Given the description of an element on the screen output the (x, y) to click on. 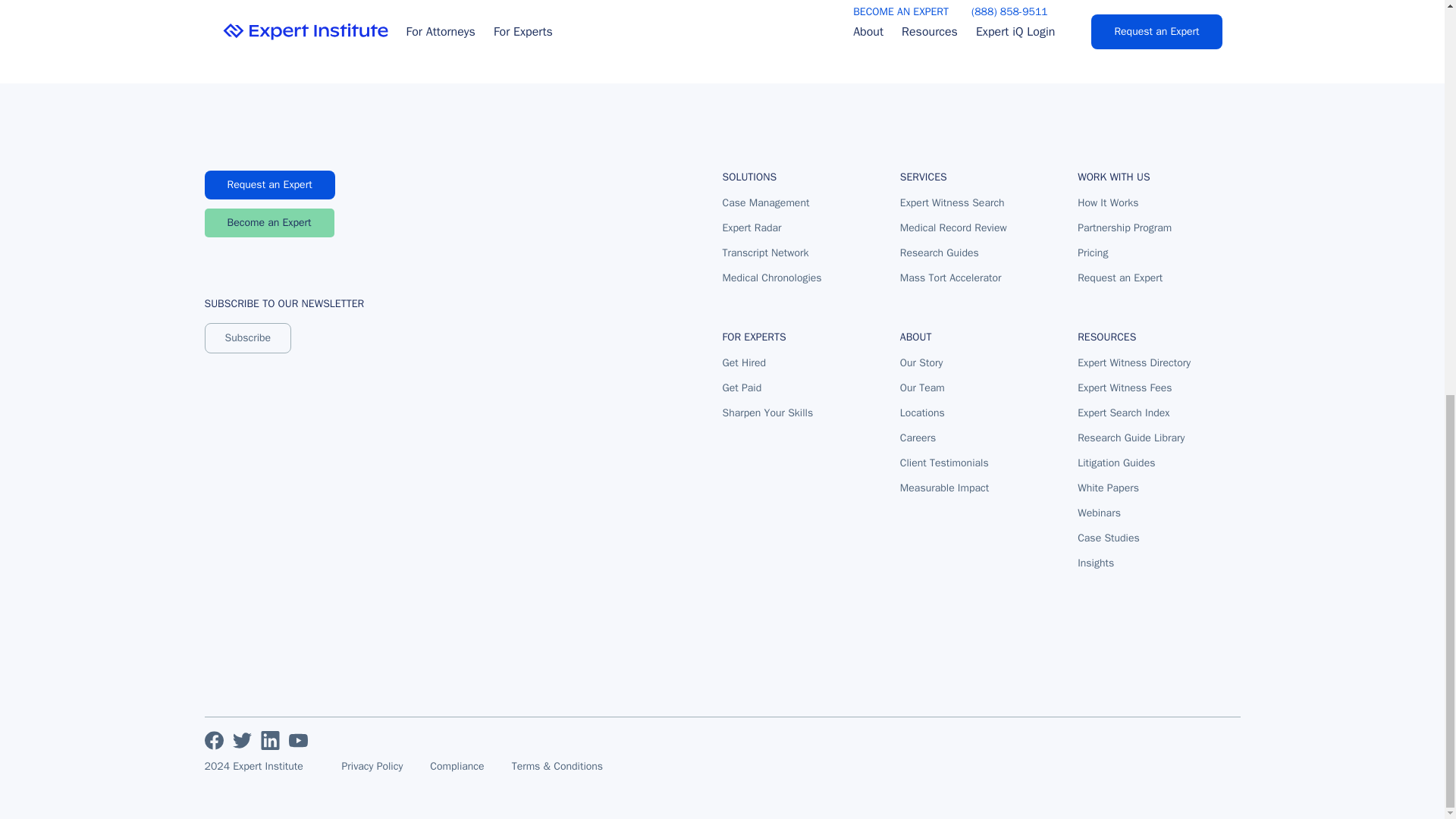
Get Hired (767, 363)
Become an Expert (269, 222)
Transcript Network (771, 253)
Medical Chronologies (771, 278)
Sharpen Your Skills (767, 413)
Request an Expert (269, 184)
Mass Tort Accelerator (953, 278)
How It Works (1124, 202)
Our Story (943, 363)
Expert Witness Search (953, 202)
